Given the description of an element on the screen output the (x, y) to click on. 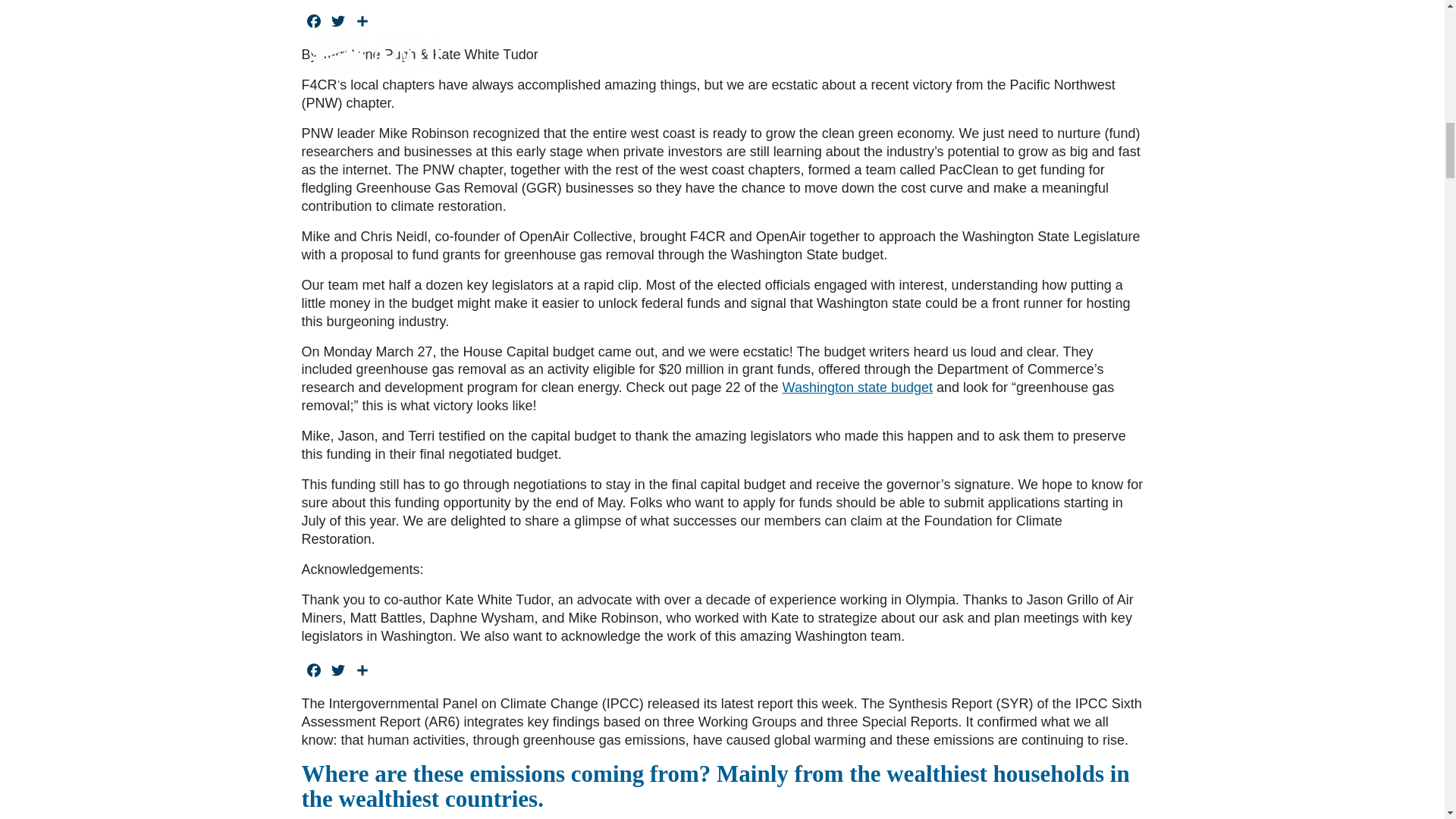
Washington state budget (858, 387)
Twitter (338, 671)
Facebook (313, 21)
Twitter (338, 21)
Twitter (338, 671)
Facebook (313, 671)
Facebook (313, 671)
Facebook (313, 21)
Twitter (338, 21)
